Given the description of an element on the screen output the (x, y) to click on. 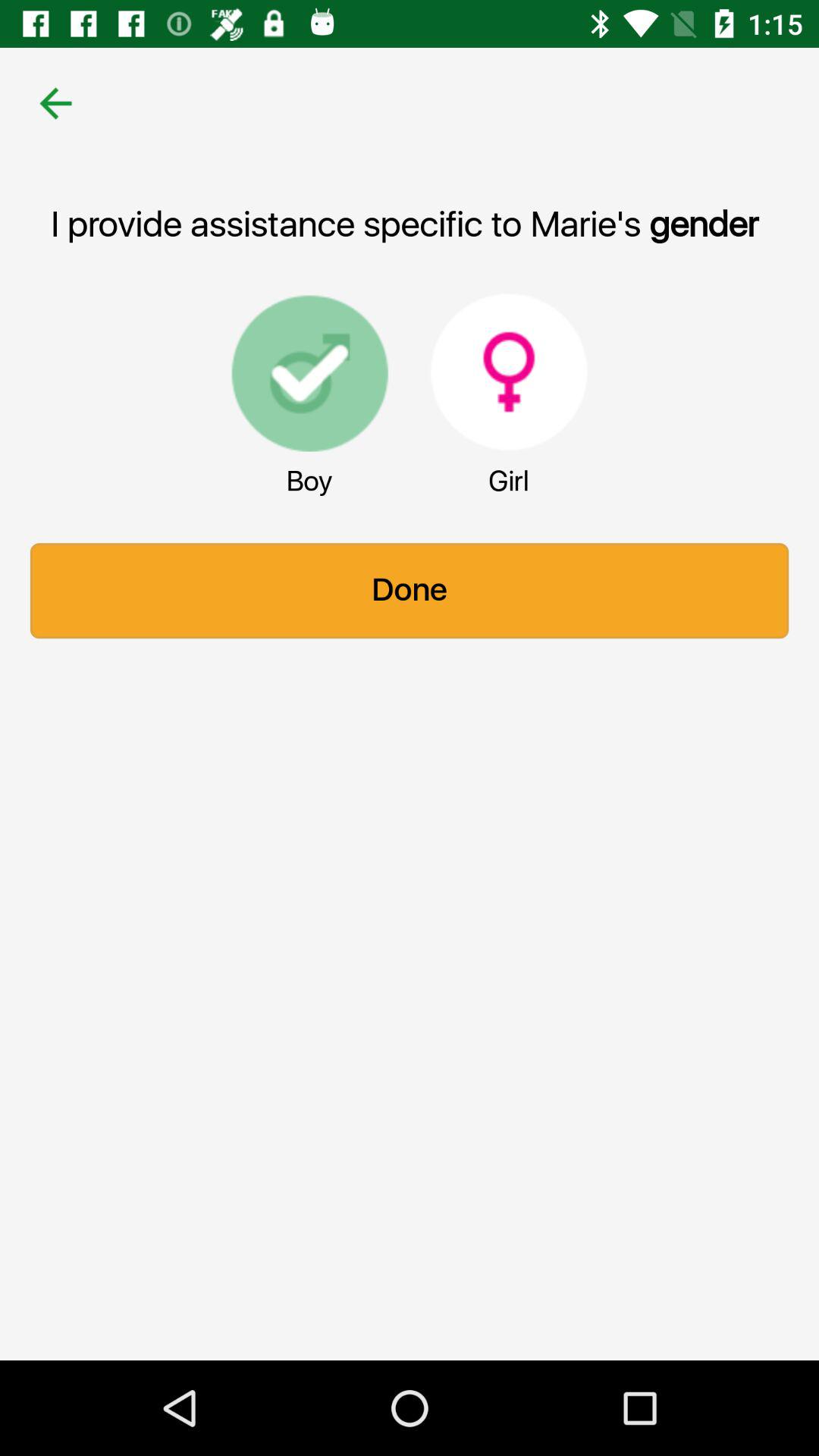
select gender boy (309, 371)
